Given the description of an element on the screen output the (x, y) to click on. 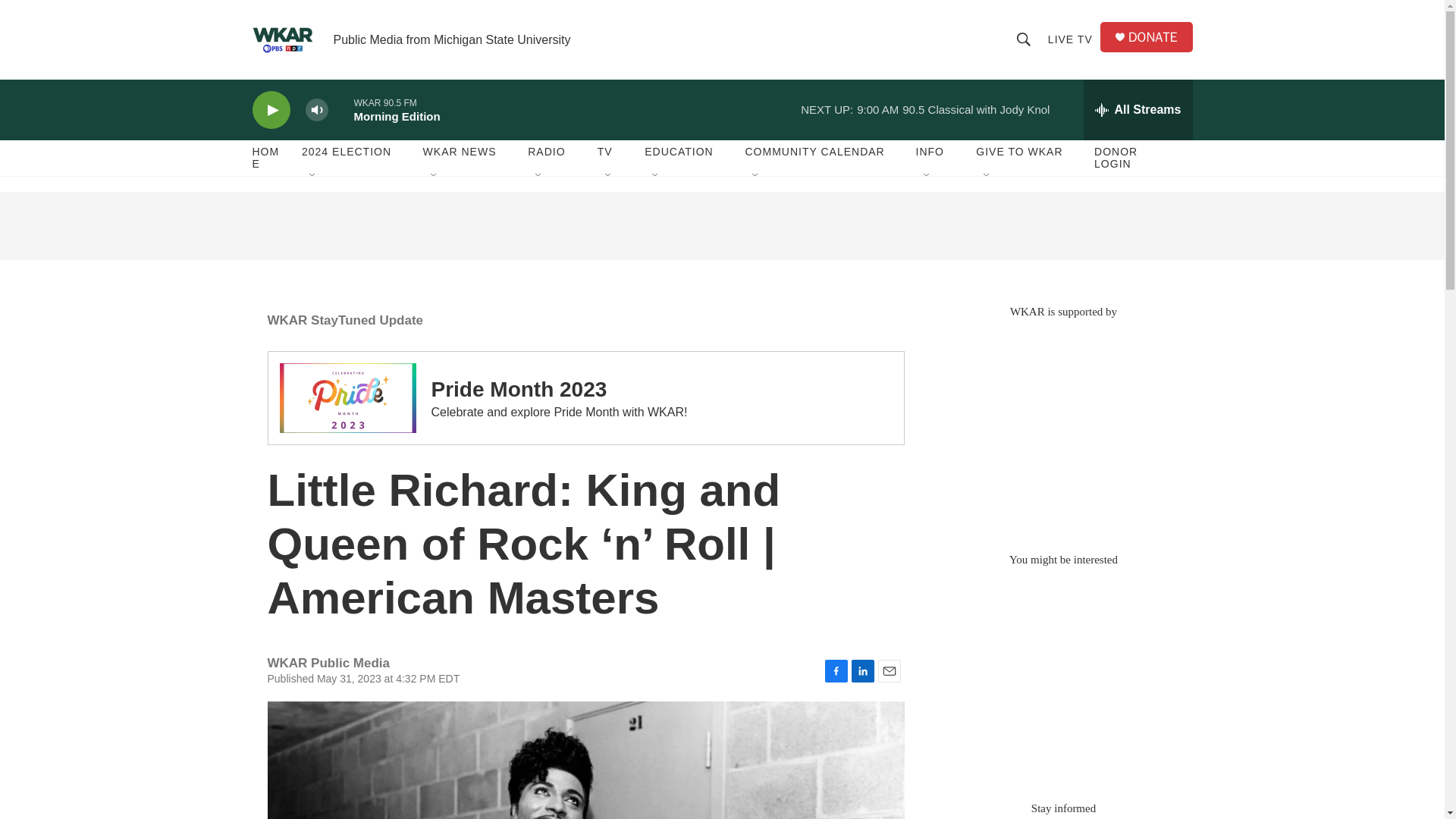
3rd party ad content (1062, 677)
3rd party ad content (721, 225)
3rd party ad content (1062, 428)
